Given the description of an element on the screen output the (x, y) to click on. 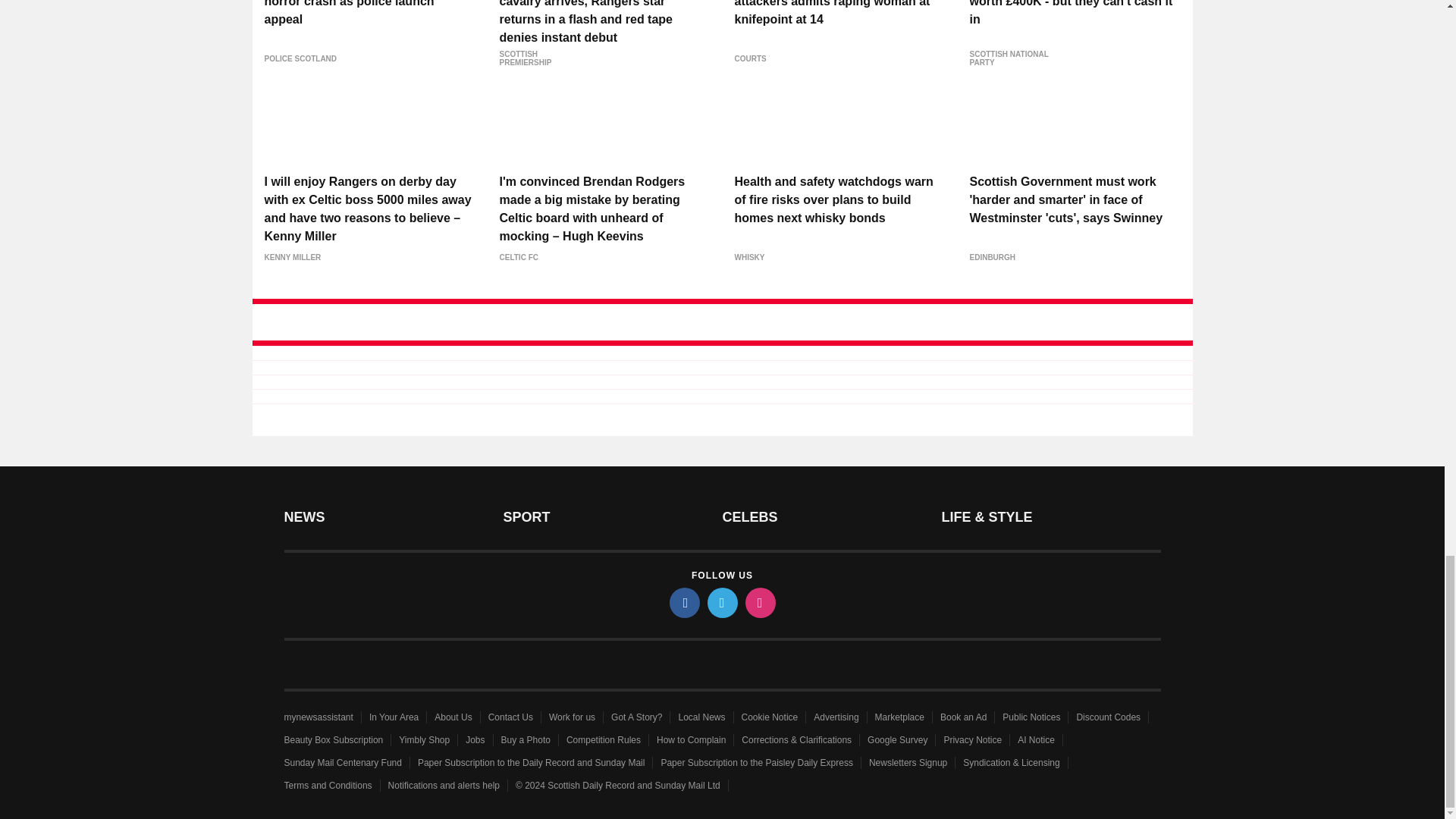
instagram (759, 603)
twitter (721, 603)
facebook (683, 603)
